Given the description of an element on the screen output the (x, y) to click on. 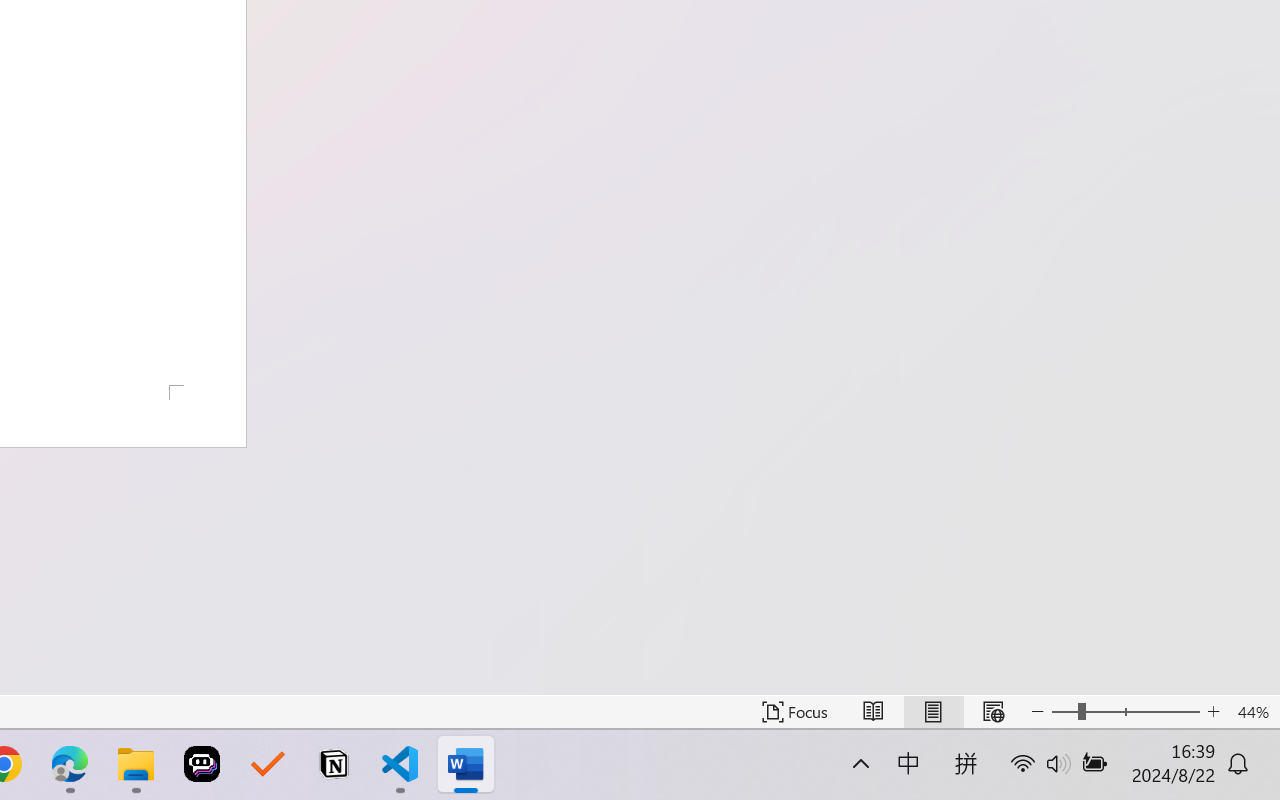
Action Center, 1 new notification (1250, 777)
Keep accessibility checker running while I work (1140, 84)
